Given the description of an element on the screen output the (x, y) to click on. 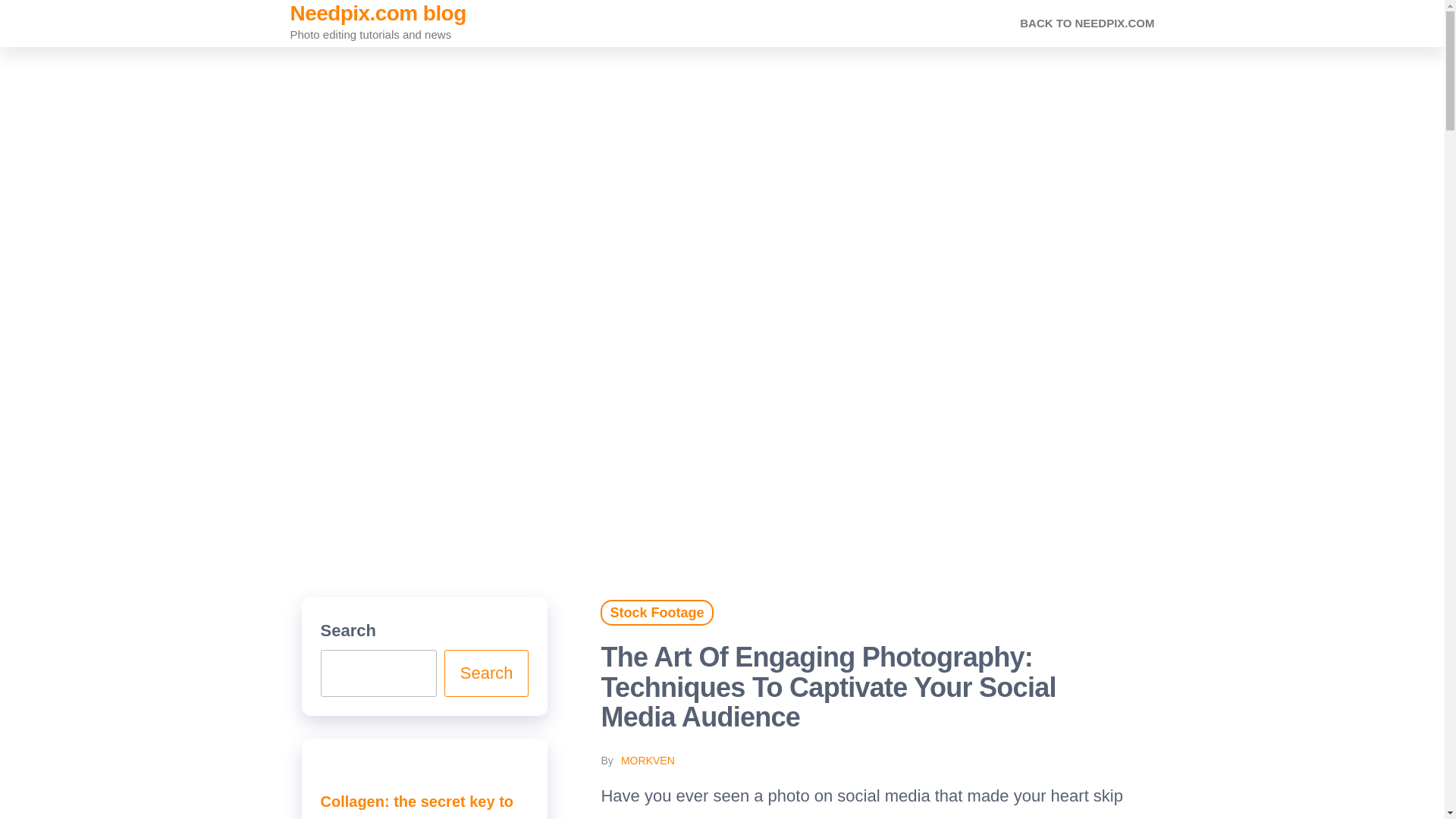
Needpix.com blog (377, 13)
Stock Footage (656, 612)
Back to needpix.com (1087, 22)
Search (486, 673)
MORKVEN (648, 760)
BACK TO NEEDPIX.COM (1087, 22)
Collagen: the secret key to youthful skin and well-being (422, 806)
